Given the description of an element on the screen output the (x, y) to click on. 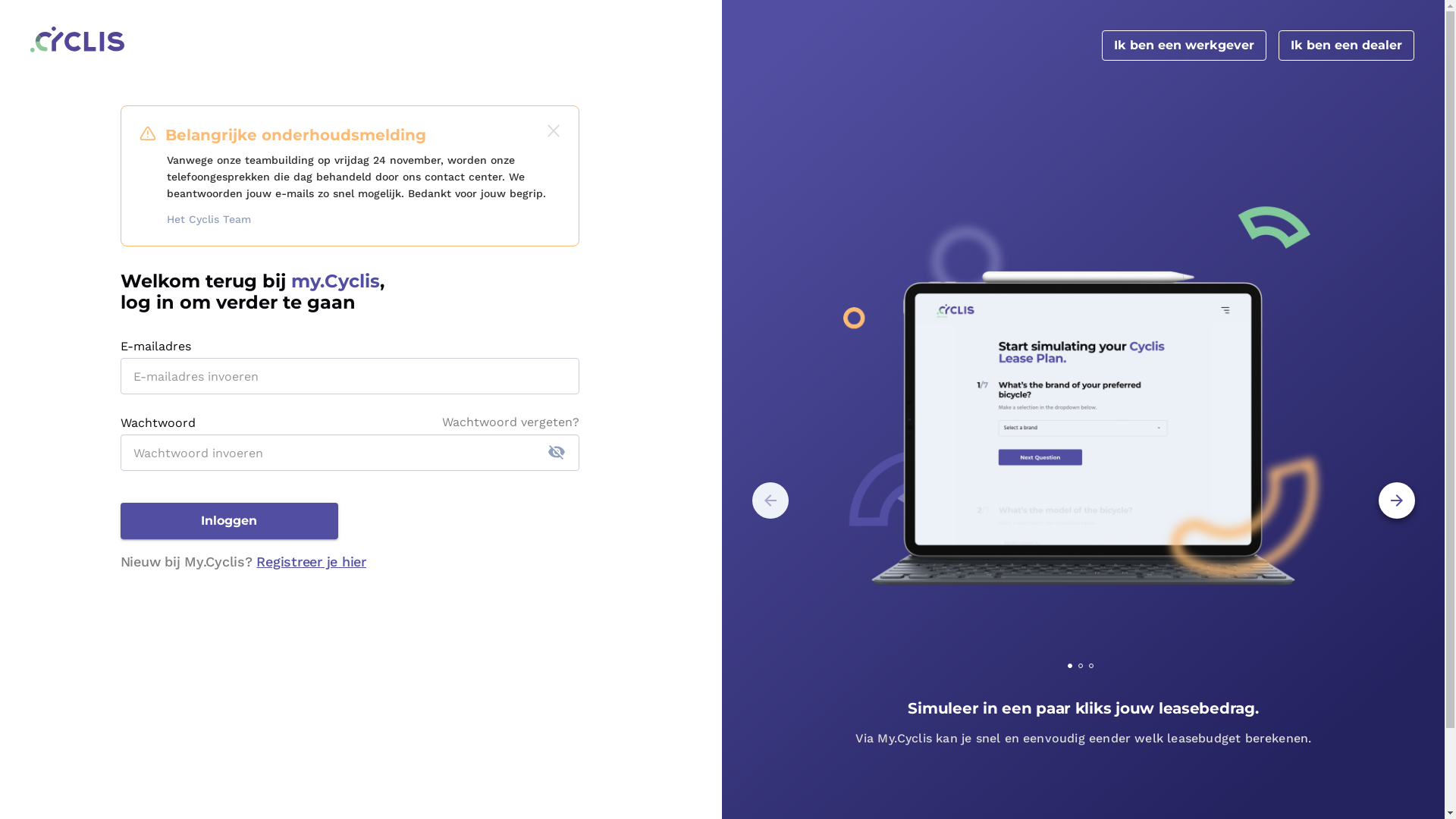
Wachtwoord vergeten? Element type: text (510, 423)
Ik ben een werkgever Element type: text (1183, 45)
Ik ben een dealer Element type: text (1346, 45)
Registreer je hier Element type: text (311, 561)
Ik ben een werkgever Element type: text (1183, 45)
Ik ben een dealer Element type: text (1346, 45)
Inloggen Element type: text (229, 520)
